Given the description of an element on the screen output the (x, y) to click on. 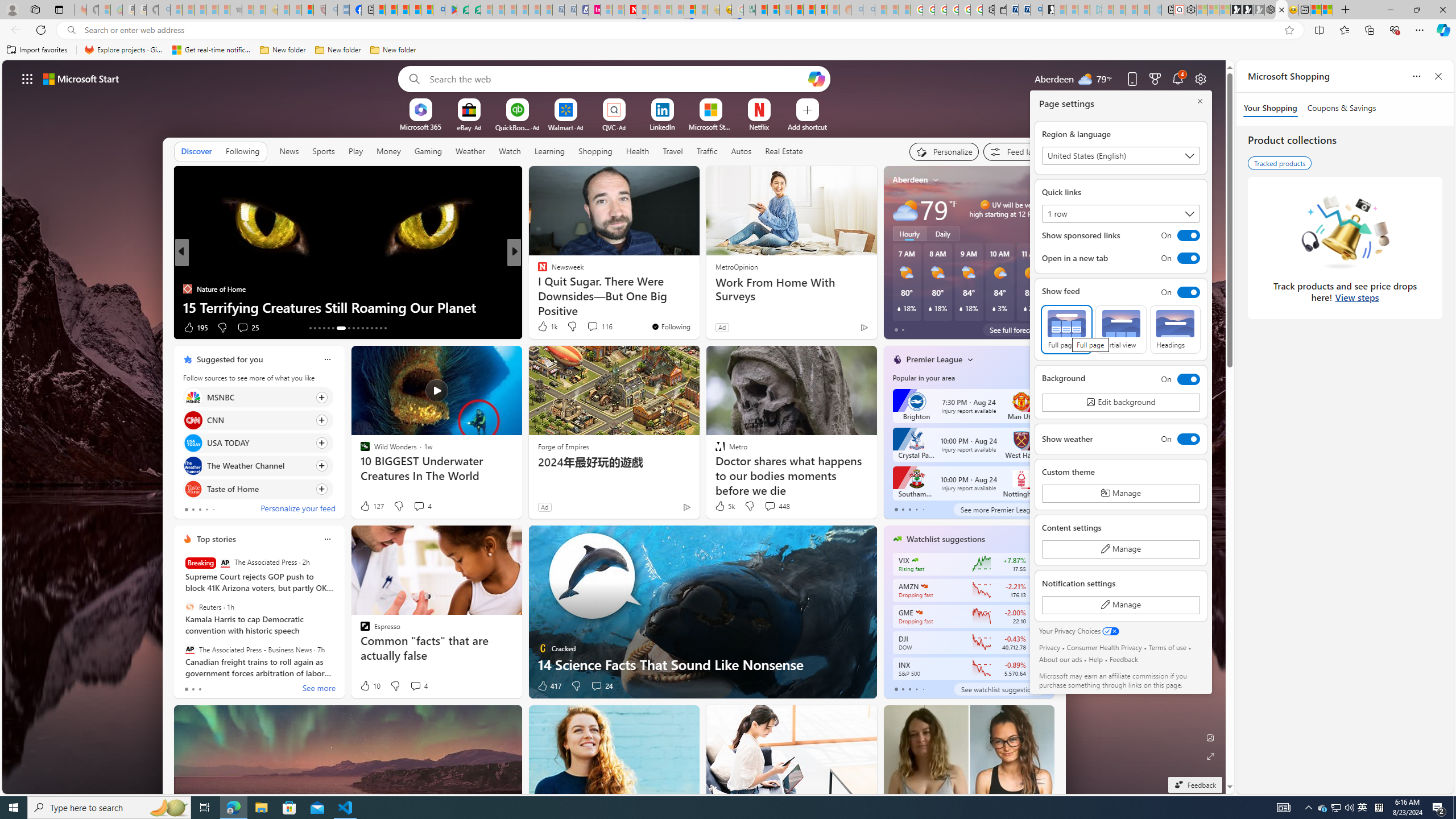
MSNBC (192, 397)
34 Like (543, 327)
Expert Portfolios (797, 9)
DITOGAMES AG Imprint (749, 9)
Wallet (1000, 9)
Watch (509, 151)
72 Like (543, 327)
Autos (740, 151)
tab-4 (923, 689)
Edit Background (1210, 737)
Click to follow source CNN (257, 419)
Ad Choice (686, 506)
